Given the description of an element on the screen output the (x, y) to click on. 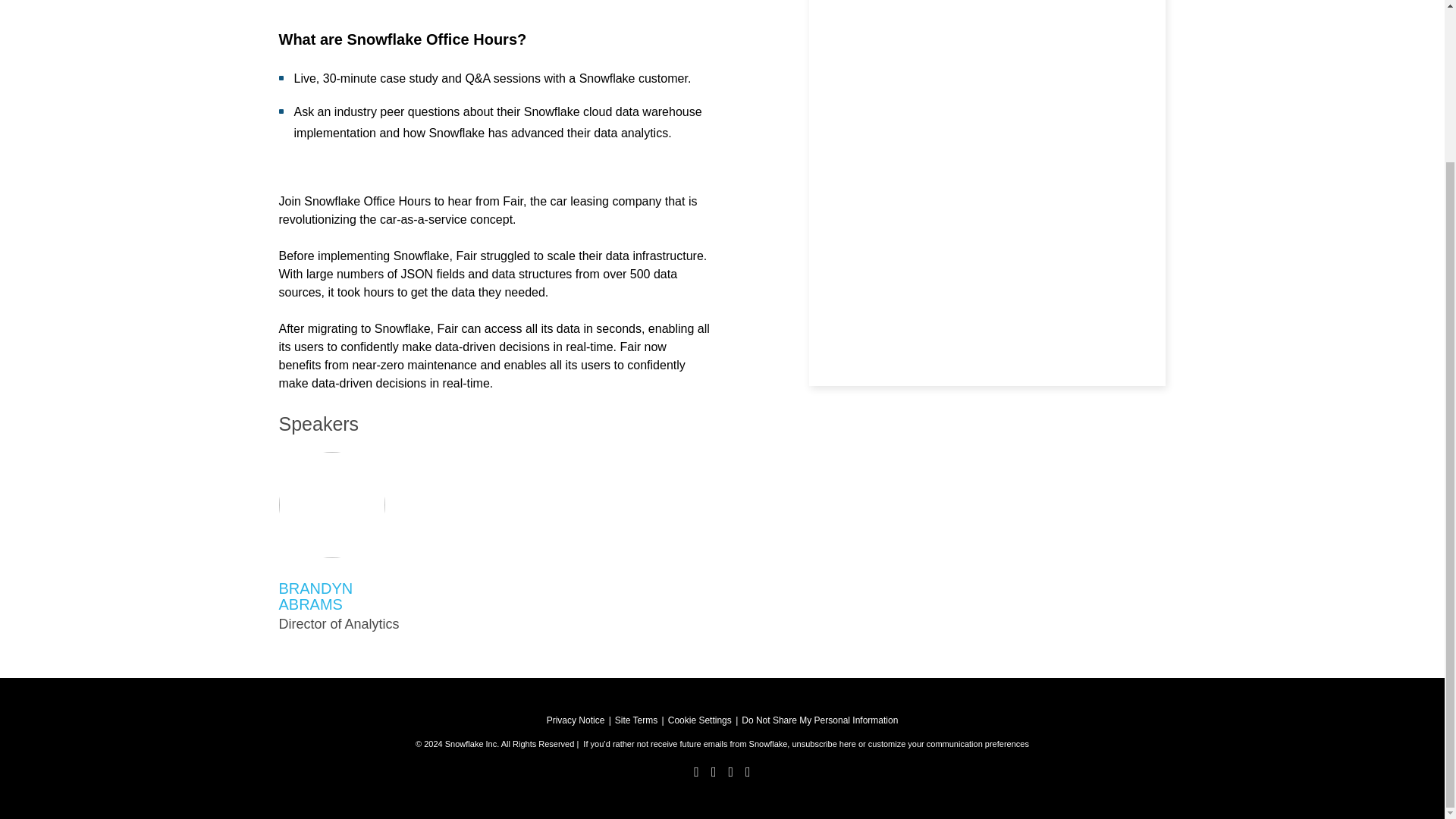
unsubscribe here or customize your communication preferences (909, 743)
Cookie Settings (700, 719)
Do Not Share My Personal Information (819, 719)
Privacy Notice (576, 719)
Site Terms (636, 719)
